Given the description of an element on the screen output the (x, y) to click on. 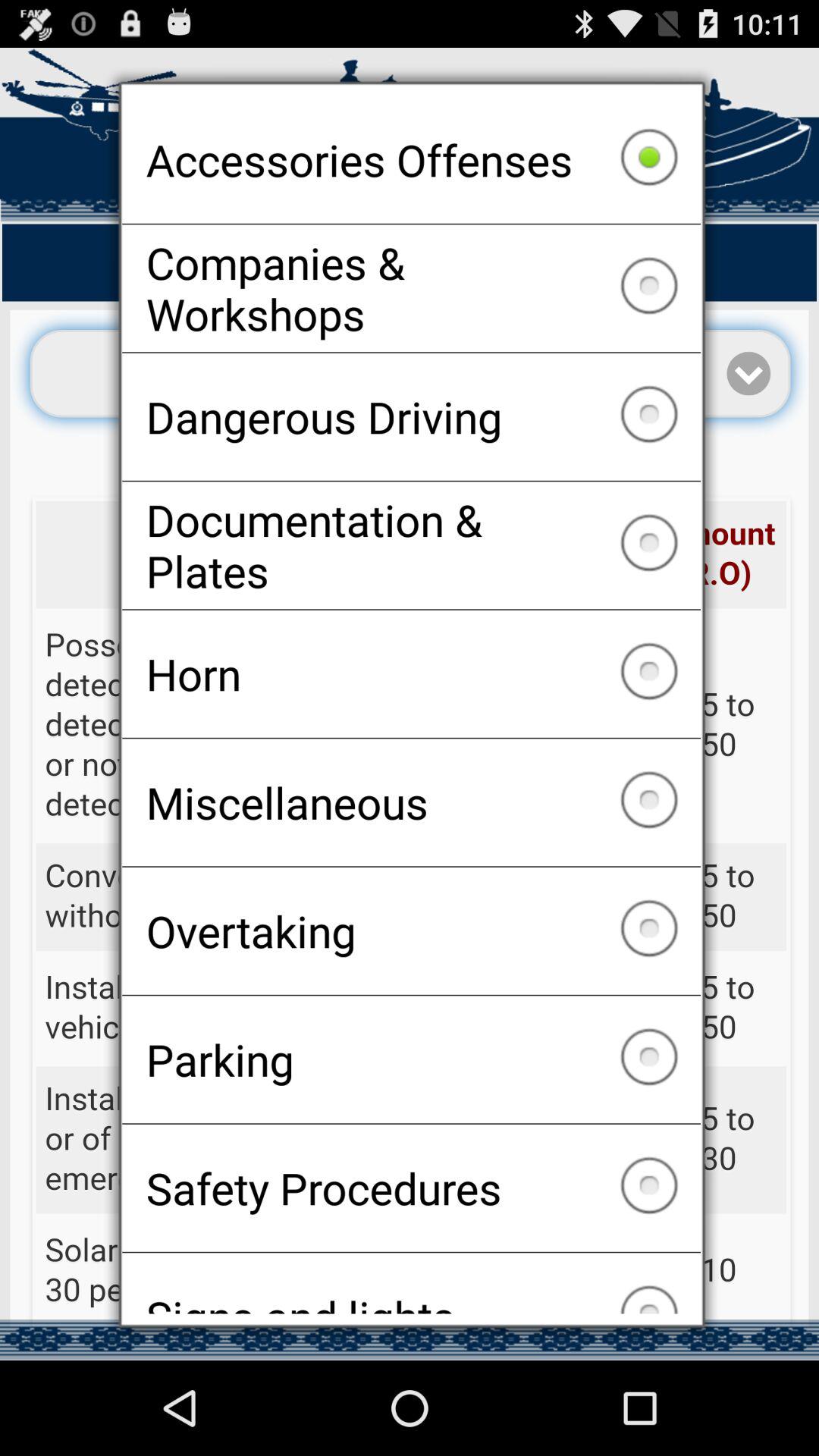
turn off icon above overtaking checkbox (411, 802)
